Given the description of an element on the screen output the (x, y) to click on. 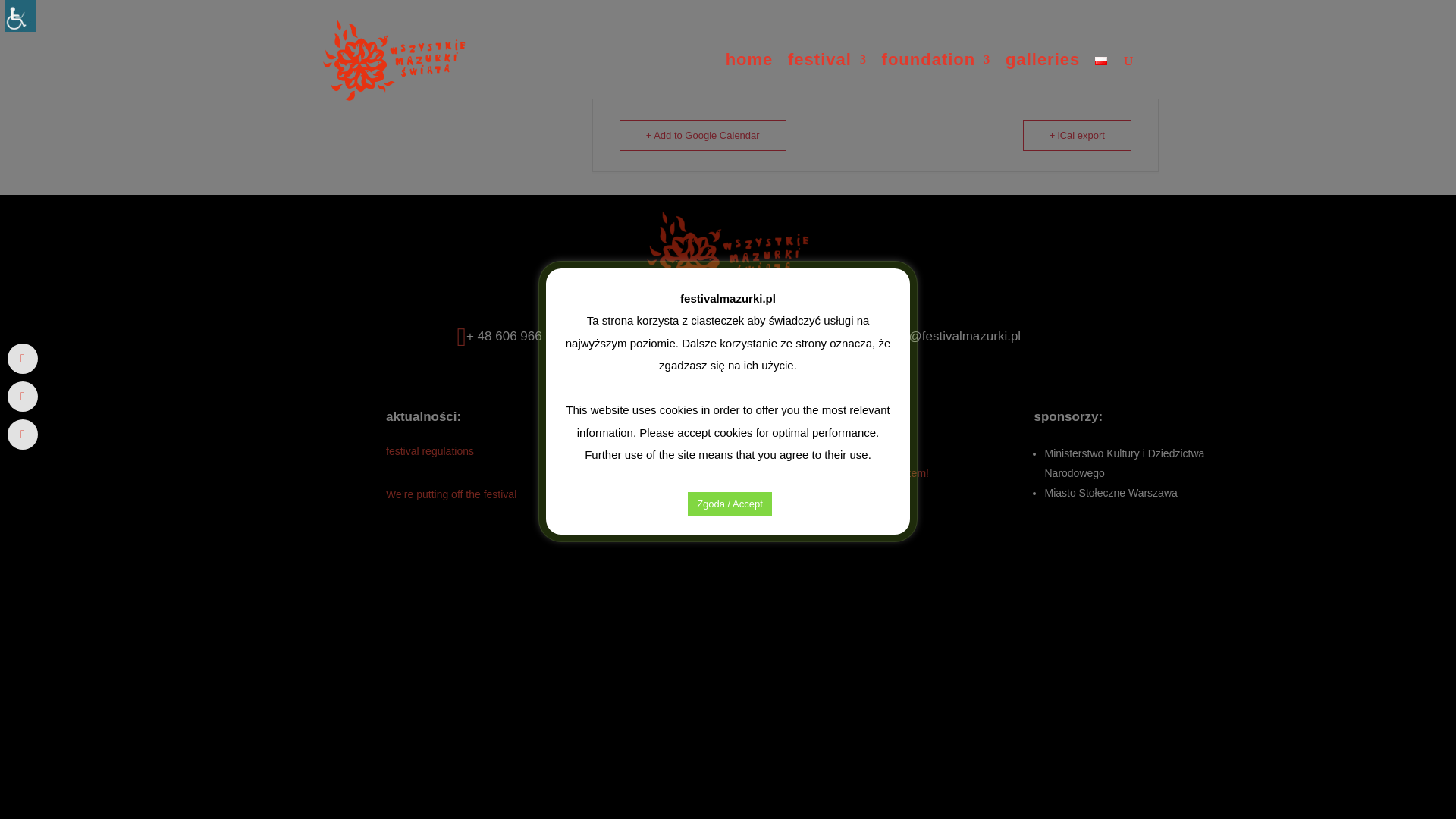
Follow on Instagram (757, 713)
Follow on Facebook (697, 713)
Follow on Youtube (727, 713)
